Given the description of an element on the screen output the (x, y) to click on. 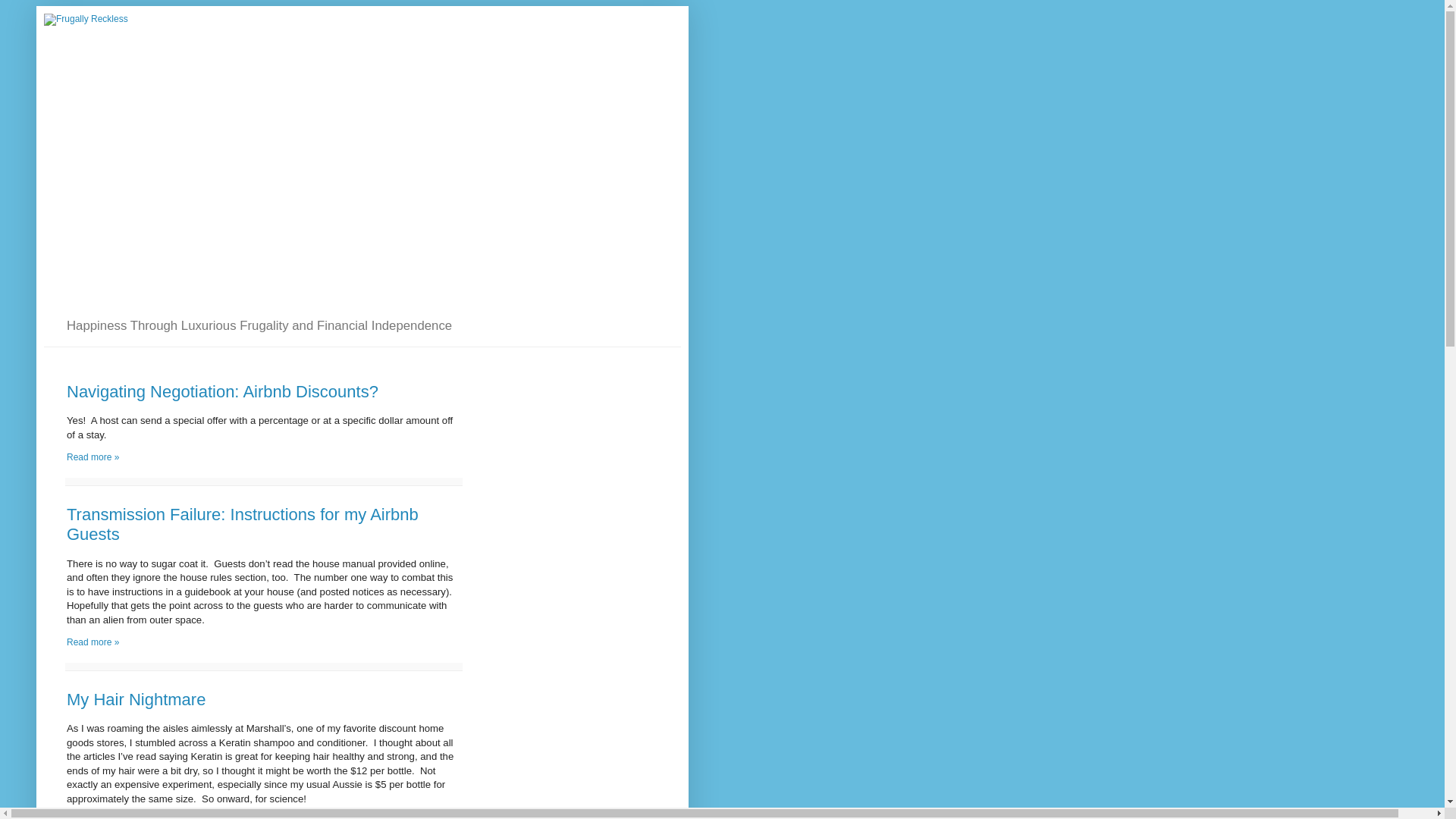
Transmission Failure: Instructions for my Airbnb Guests (92, 642)
Transmission Failure: Instructions for my Airbnb Guests (242, 524)
My Hair Nightmare (92, 817)
Navigating Negotiation: Airbnb Discounts? (222, 391)
Navigating Negotiation: Airbnb Discounts? (92, 457)
My Hair Nightmare (135, 699)
